Given the description of an element on the screen output the (x, y) to click on. 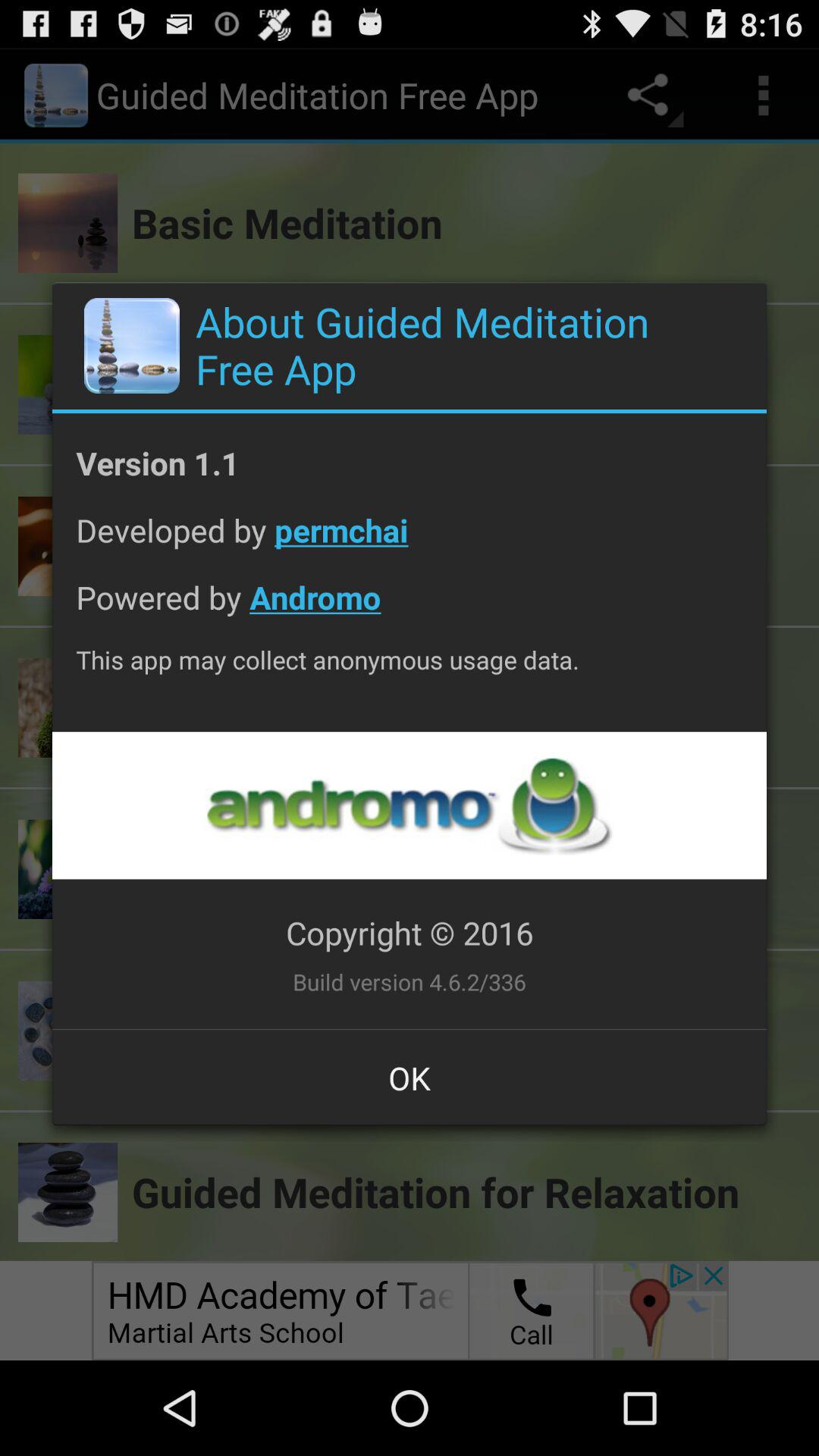
select icon above the powered by andromo app (409, 541)
